Given the description of an element on the screen output the (x, y) to click on. 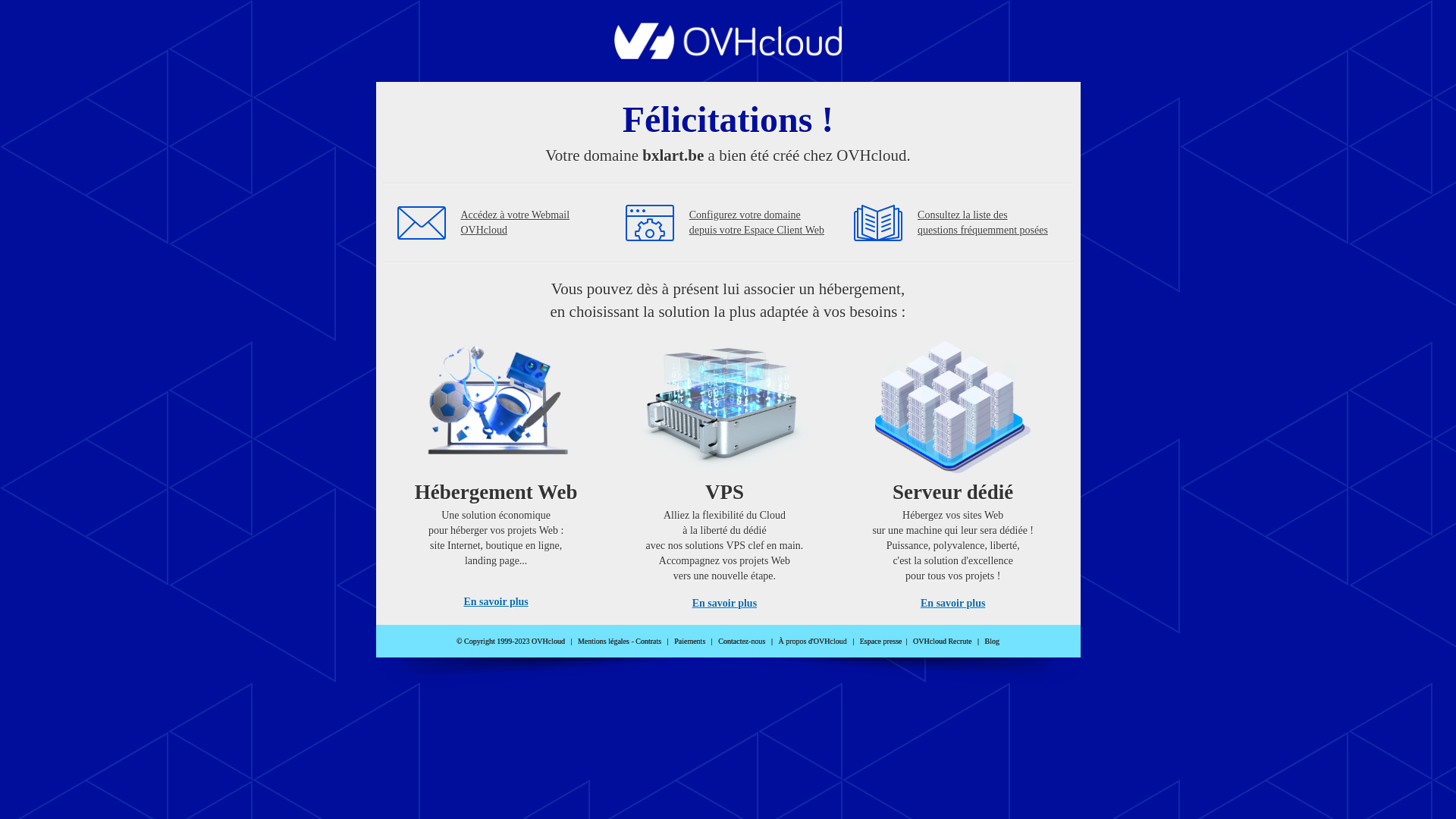
Blog Element type: text (992, 641)
VPS Element type: hover (724, 469)
OVHcloud Recrute Element type: text (942, 641)
OVHcloud Element type: hover (727, 54)
En savoir plus Element type: text (952, 602)
En savoir plus Element type: text (724, 602)
En savoir plus Element type: text (495, 601)
Contactez-nous Element type: text (741, 641)
Configurez votre domaine
depuis votre Espace Client Web Element type: text (756, 222)
Paiements Element type: text (689, 641)
Espace presse Element type: text (880, 641)
